Given the description of an element on the screen output the (x, y) to click on. 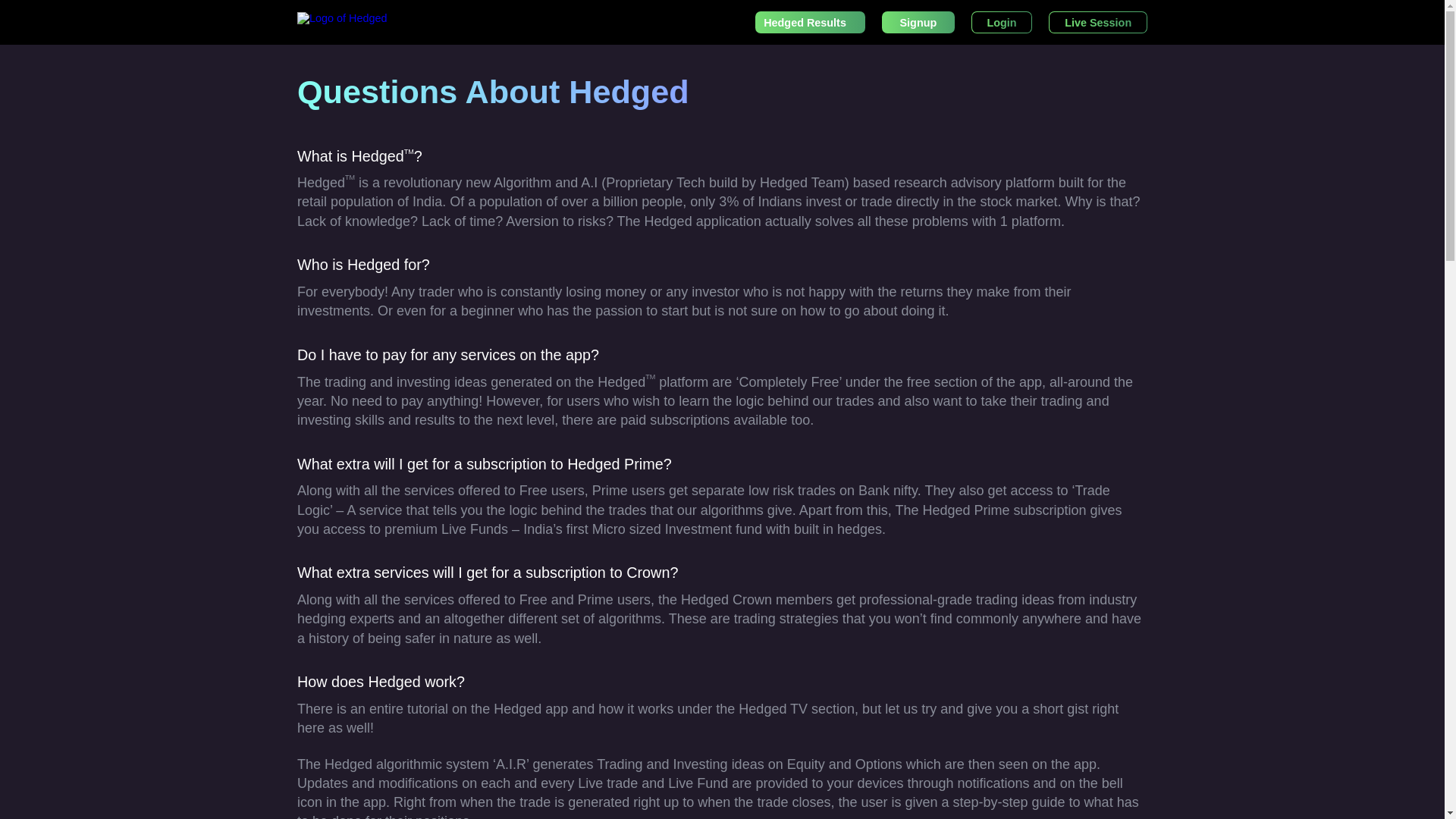
Login (1001, 22)
Hedged Results (809, 22)
Live Session (1097, 22)
Signup (918, 22)
